Given the description of an element on the screen output the (x, y) to click on. 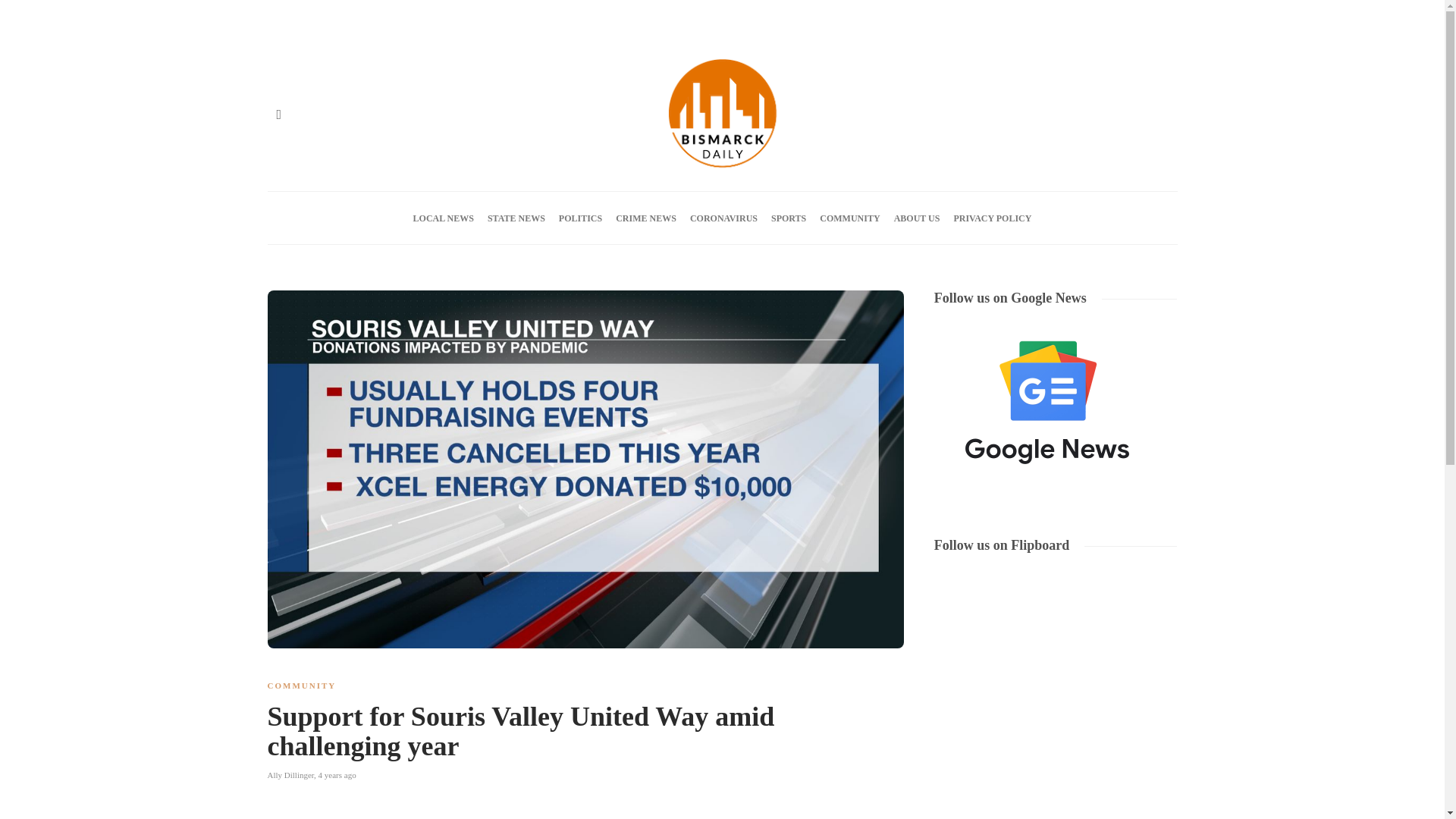
COMMUNITY (849, 217)
LOCAL NEWS (443, 217)
Advertise (327, 17)
CORONAVIRUS (723, 217)
Support for Souris Valley United Way amid challenging year (573, 734)
Privacy Policy (521, 17)
4 years ago (337, 774)
STATE NEWS (515, 217)
CRIME NEWS (646, 217)
Meet the Team (446, 17)
